Given the description of an element on the screen output the (x, y) to click on. 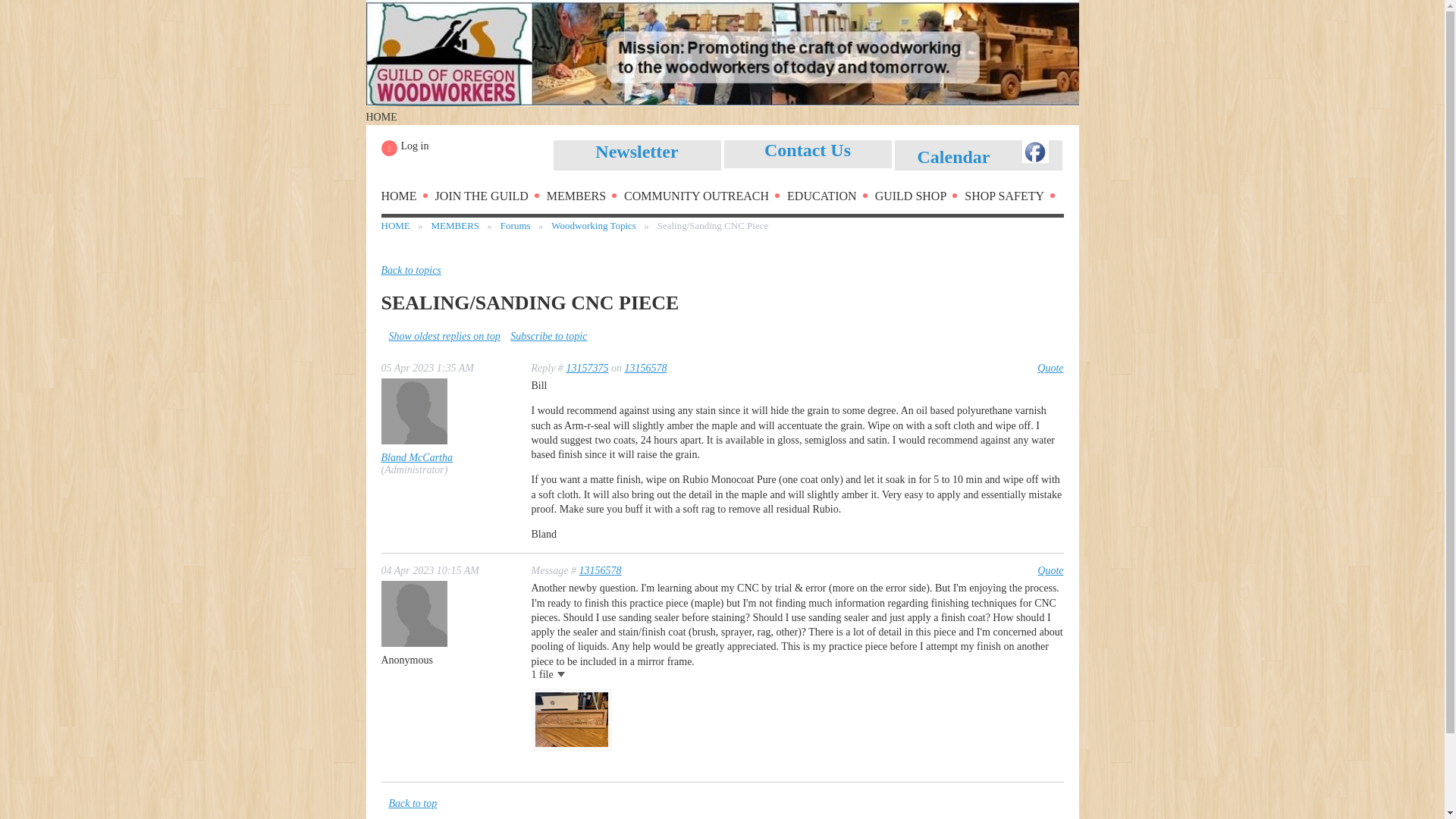
Log in (404, 148)
MEMBERS (585, 199)
Join the Guild (491, 199)
Calendar (953, 159)
Newsletter (636, 153)
MEMBERS (585, 199)
HOME (406, 199)
COMMUNITY OUTREACH (705, 199)
Contact Us (807, 152)
JOIN THE GUILD (491, 199)
HOME (406, 199)
